Given the description of an element on the screen output the (x, y) to click on. 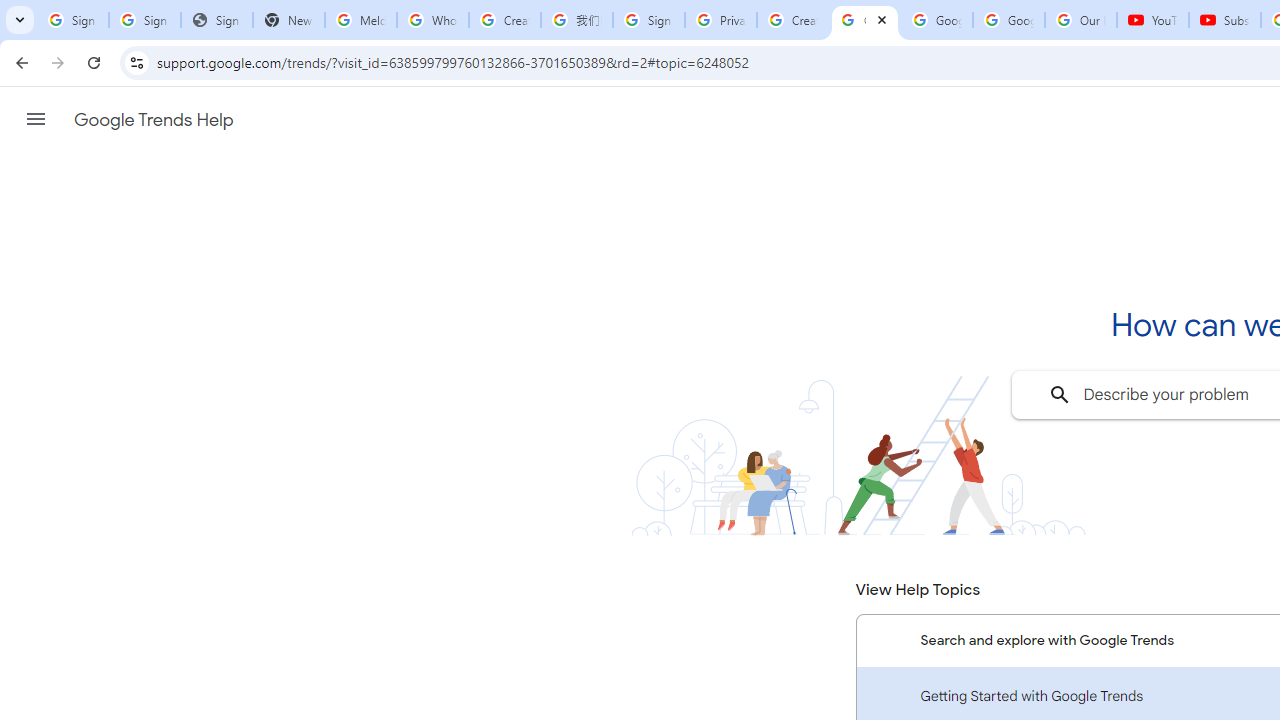
Create your Google Account (792, 20)
Google Trends Help (153, 119)
Google Trends Help (865, 20)
Sign In - USA TODAY (216, 20)
Google Account (1008, 20)
Subscriptions - YouTube (1224, 20)
YouTube (1153, 20)
Sign in - Google Accounts (648, 20)
